Given the description of an element on the screen output the (x, y) to click on. 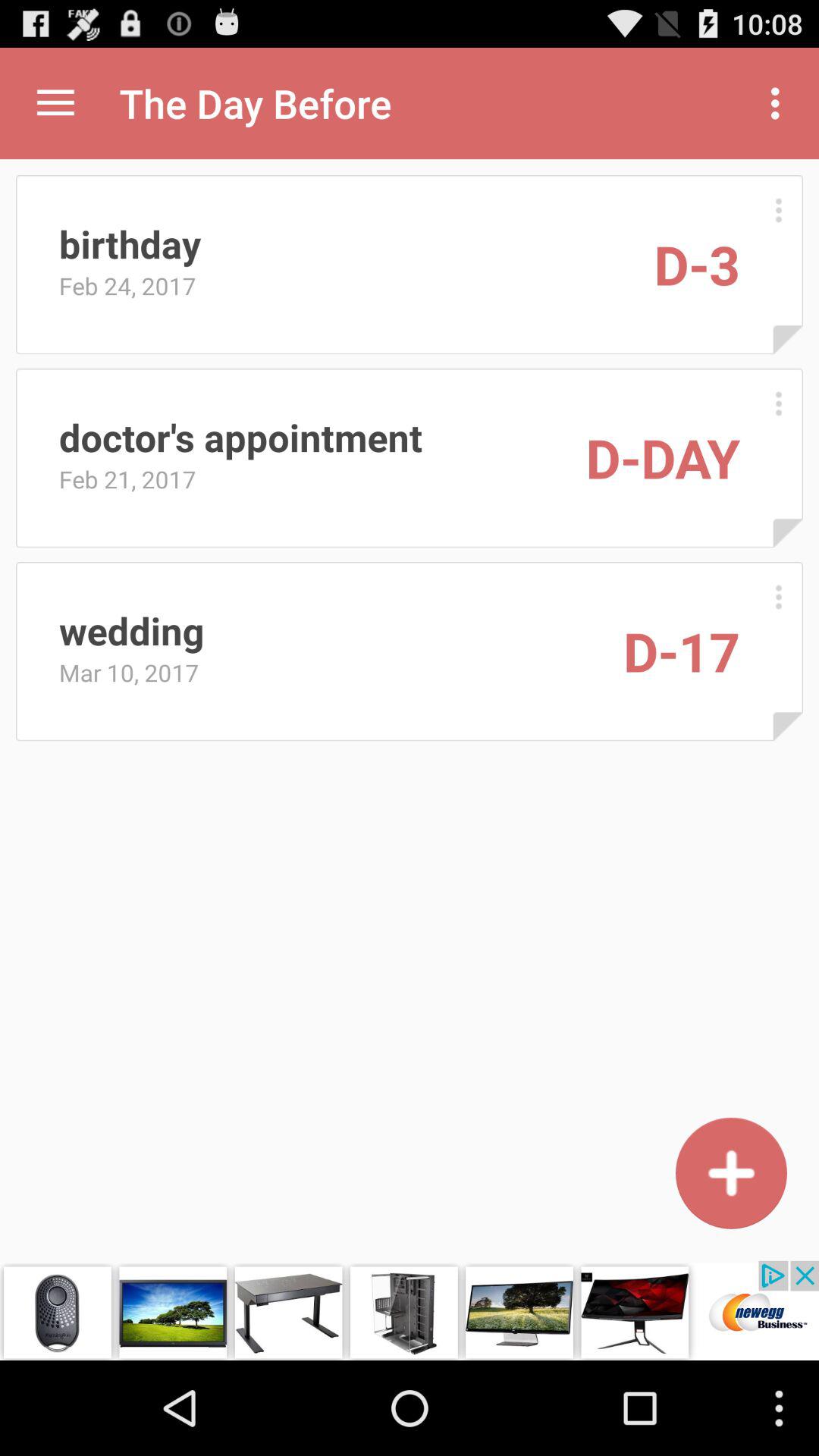
add new entry (731, 1173)
